Given the description of an element on the screen output the (x, y) to click on. 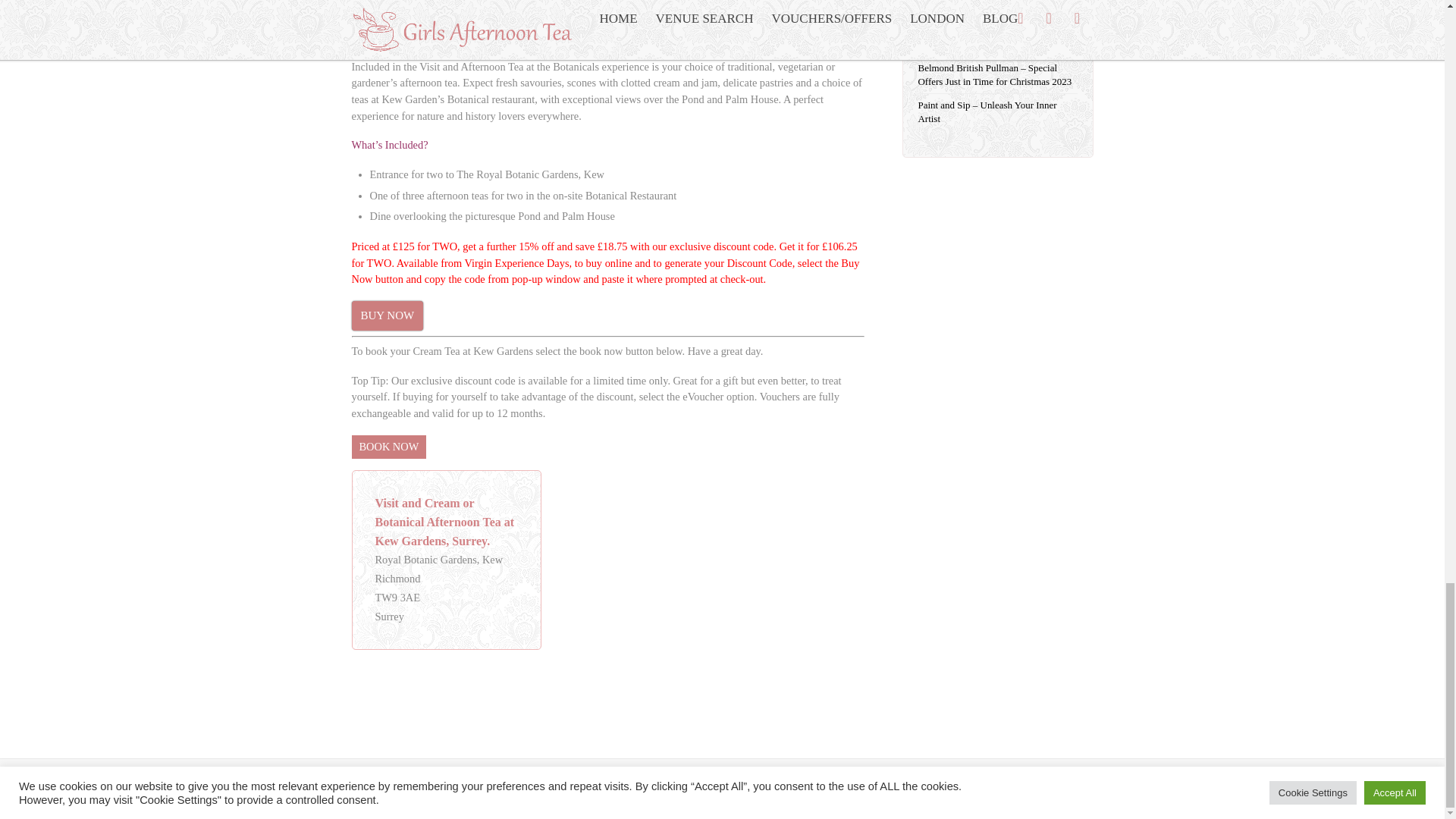
BOOK NOW (389, 446)
BUY NOW (387, 315)
